Given the description of an element on the screen output the (x, y) to click on. 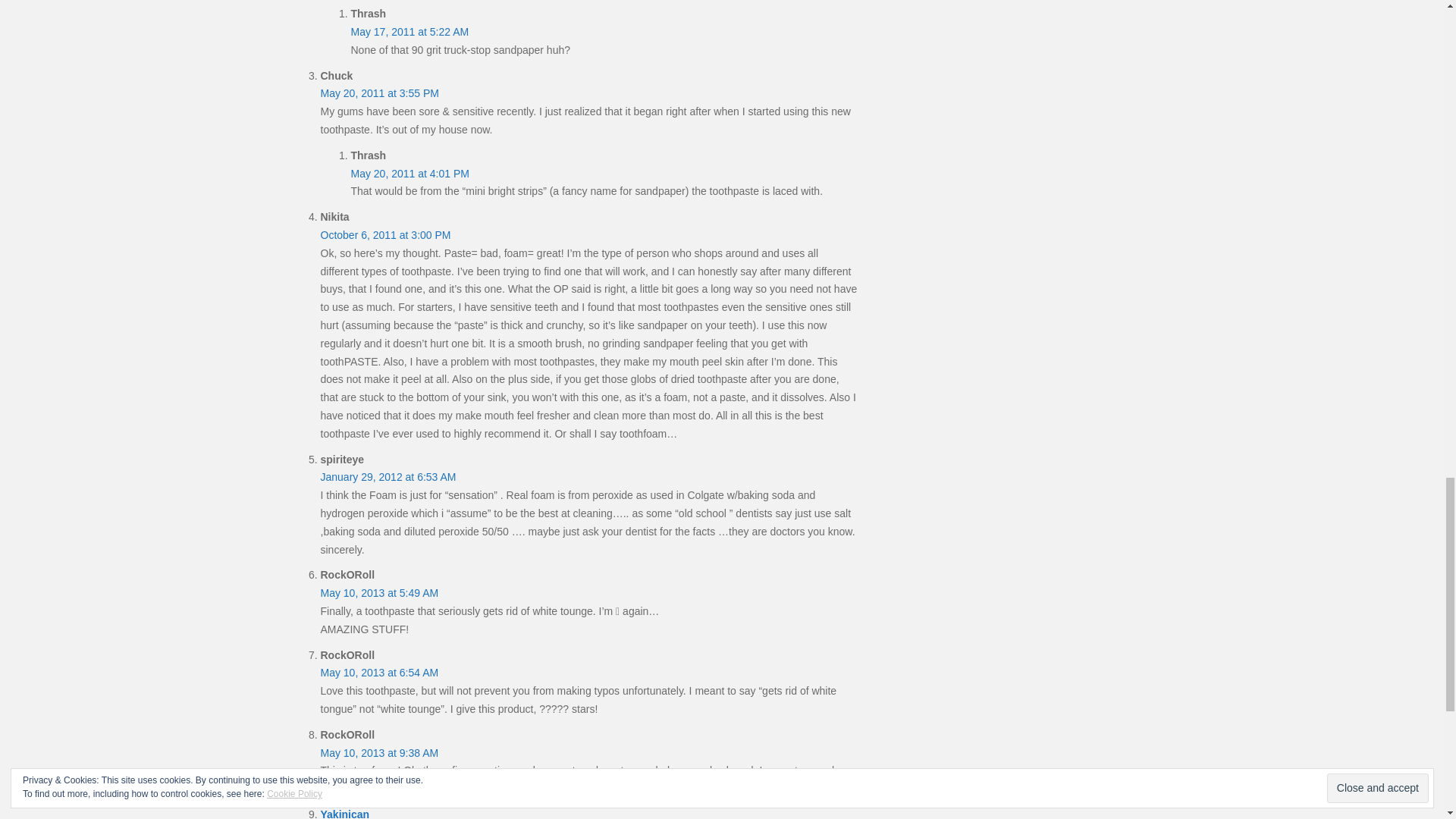
May 10, 2013 at 6:54 AM (379, 672)
May 10, 2013 at 5:49 AM (379, 592)
October 6, 2011 at 3:00 PM (384, 234)
May 17, 2011 at 5:22 AM (409, 31)
January 29, 2012 at 6:53 AM (387, 476)
May 20, 2011 at 3:55 PM (379, 92)
May 20, 2011 at 4:01 PM (409, 173)
May 10, 2013 at 9:38 AM (379, 752)
Yakinican (344, 813)
